Given the description of an element on the screen output the (x, y) to click on. 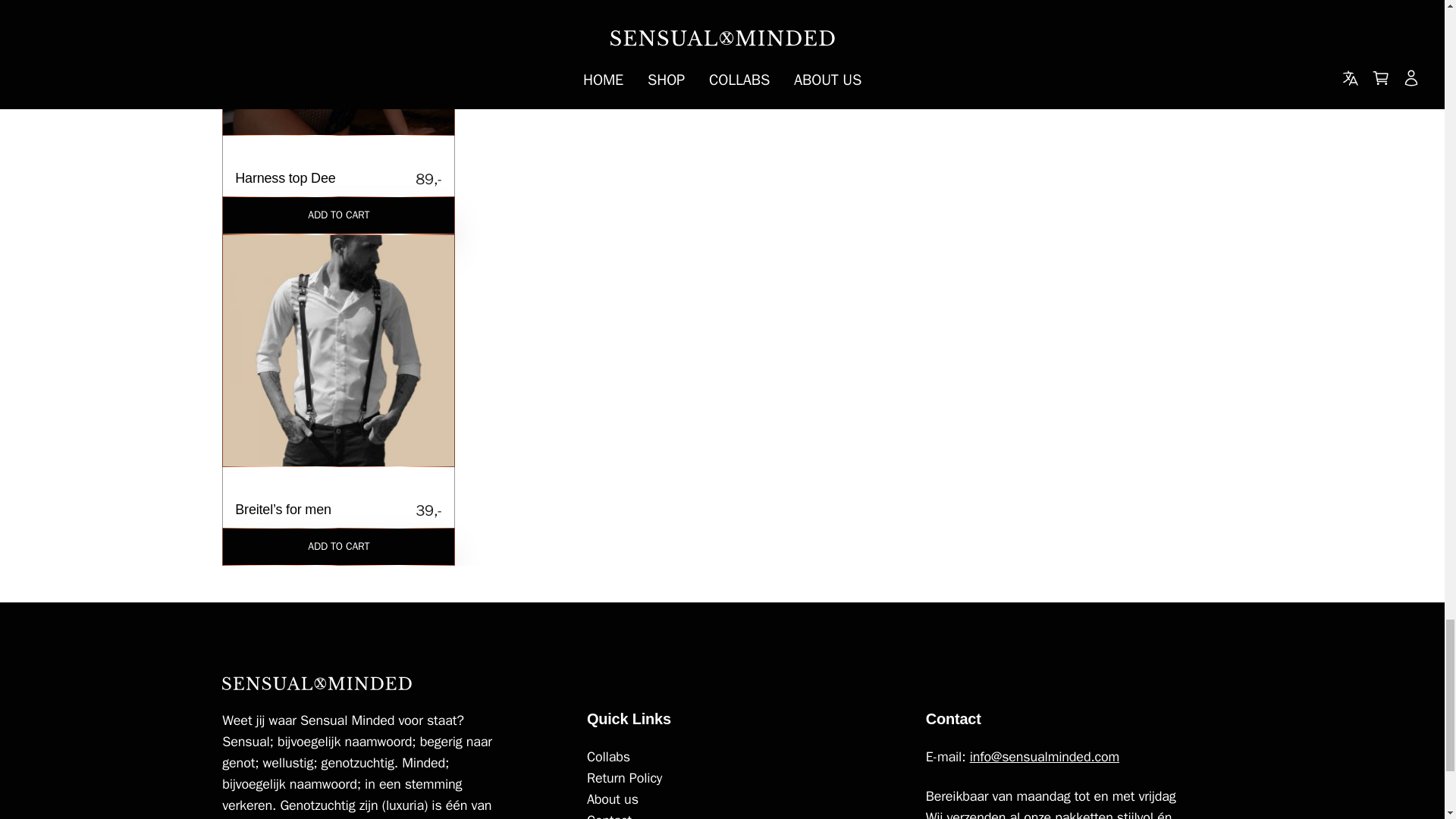
Sensual Minded (317, 683)
ADD TO CART (338, 215)
About us (734, 798)
Contact (338, 98)
ADD TO CART (734, 814)
Return Policy (338, 546)
Collabs (734, 777)
